Given the description of an element on the screen output the (x, y) to click on. 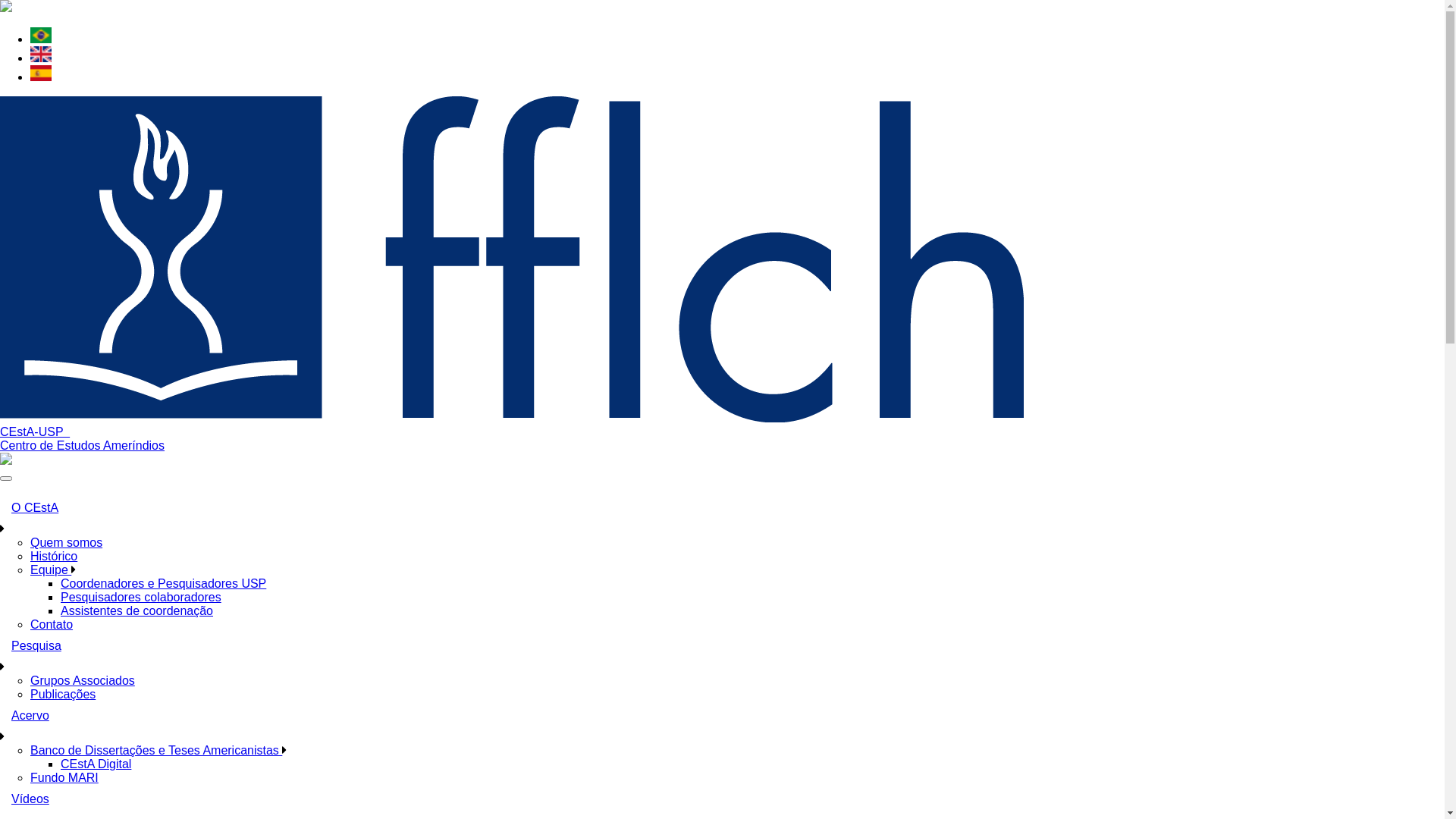
Pesquisa Element type: text (722, 645)
Grupos Associados Element type: text (82, 680)
CEstA-USP   Element type: text (34, 431)
Fundo MARI Element type: text (64, 777)
English Element type: hover (40, 54)
Equipe Element type: text (50, 569)
Pesquisadores colaboradores Element type: text (140, 596)
Quem somos Element type: text (66, 542)
Acervo Element type: text (722, 715)
CEstA Digital Element type: text (95, 763)
Coordenadores e Pesquisadores USP Element type: text (163, 583)
O CEstA Element type: text (722, 507)
Contato Element type: text (51, 624)
